Given the description of an element on the screen output the (x, y) to click on. 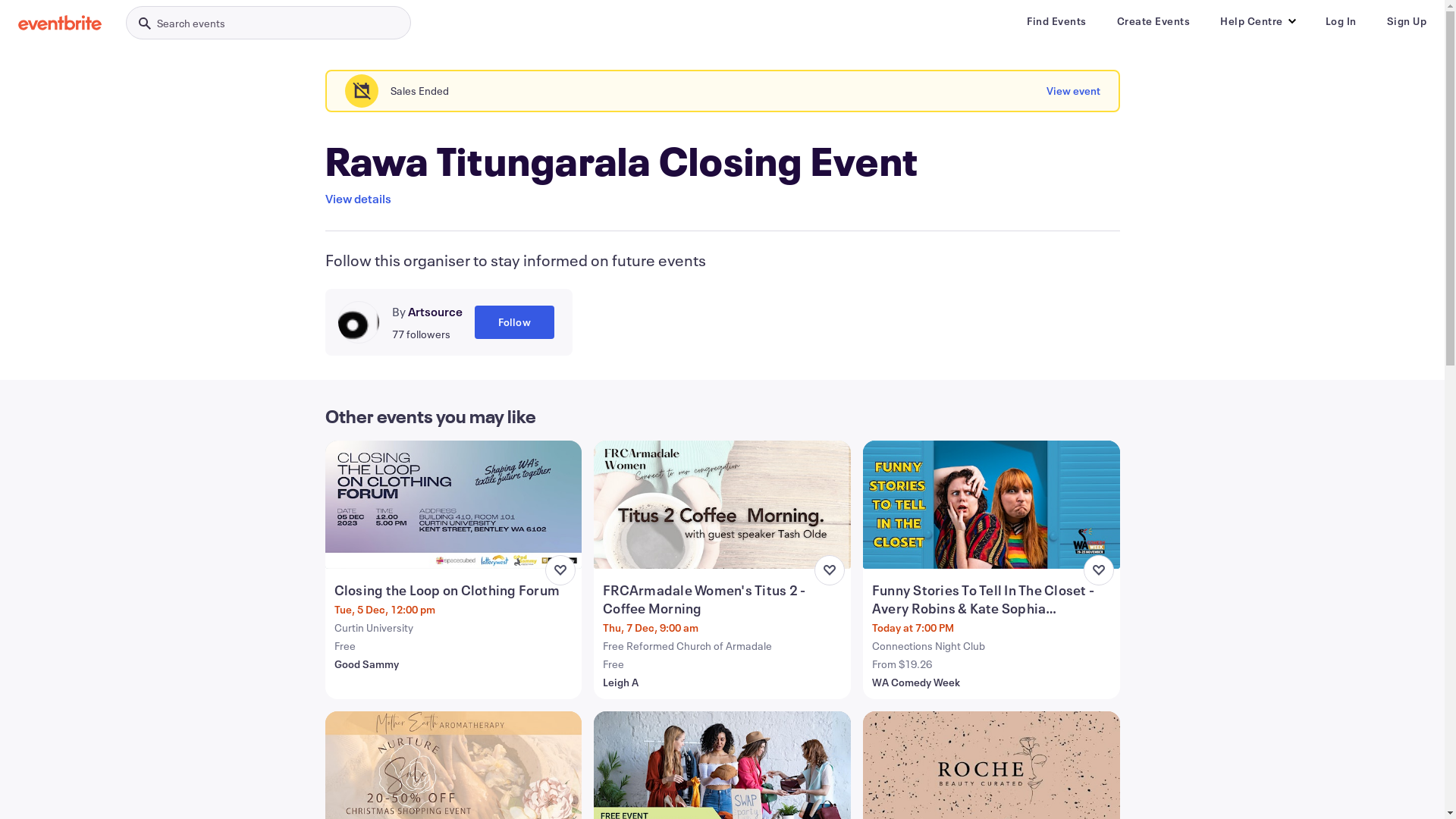
View details Element type: text (357, 198)
Search events Element type: text (268, 22)
Follow Element type: text (514, 321)
Eventbrite Element type: hover (59, 22)
Create Events Element type: text (1152, 21)
FRCArmadale Women's Titus 2 - Coffee Morning Element type: text (723, 598)
Sign Up Element type: text (1406, 21)
View event Element type: text (1073, 90)
Find Events Element type: text (1056, 21)
Log In Element type: text (1340, 21)
Closing the Loop on Clothing Forum Element type: text (454, 589)
